Given the description of an element on the screen output the (x, y) to click on. 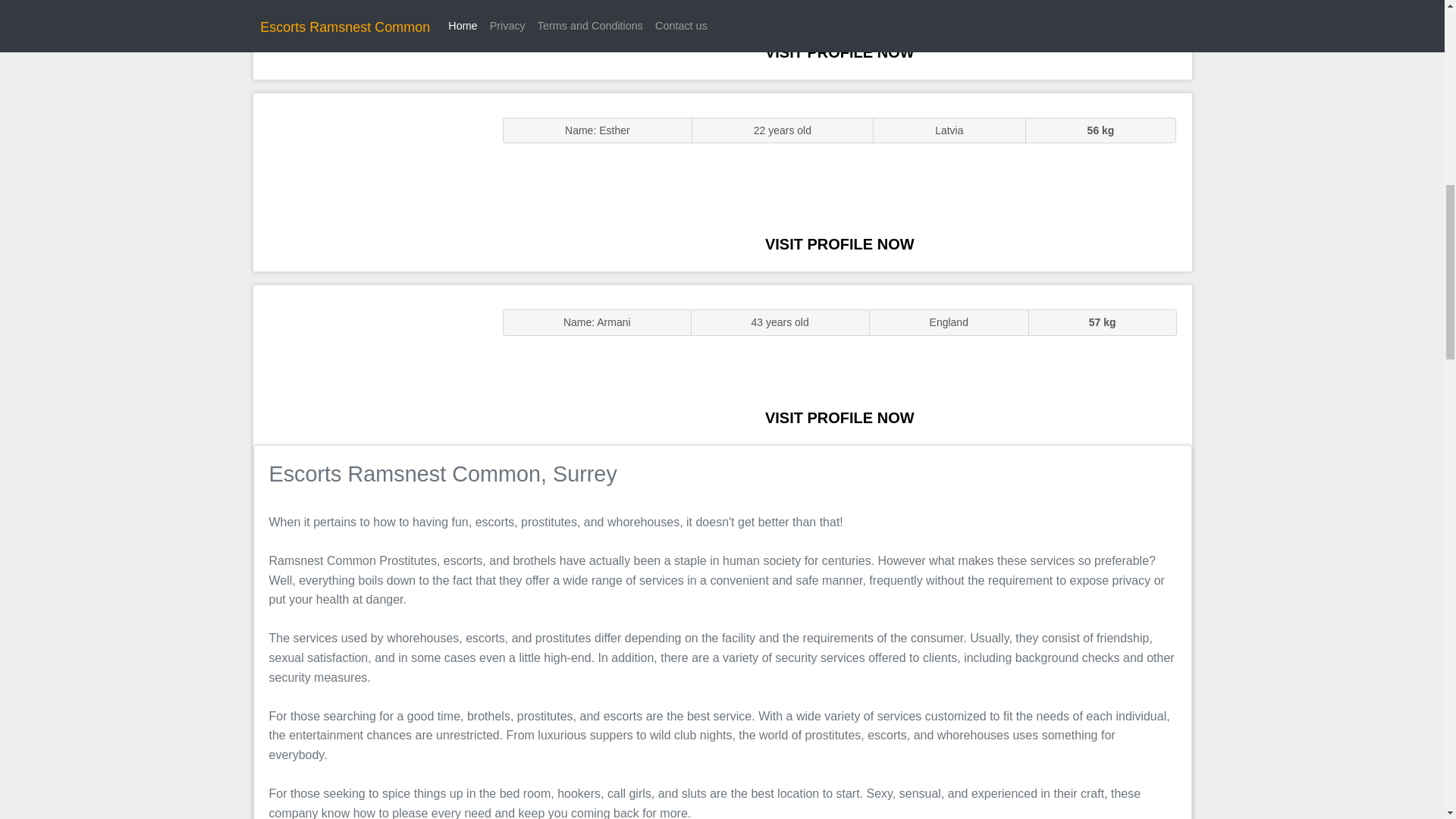
Sluts (370, 182)
VISIT PROFILE NOW (839, 243)
Sluts (370, 39)
Massage (370, 364)
VISIT PROFILE NOW (839, 417)
VISIT PROFILE NOW (839, 52)
